Given the description of an element on the screen output the (x, y) to click on. 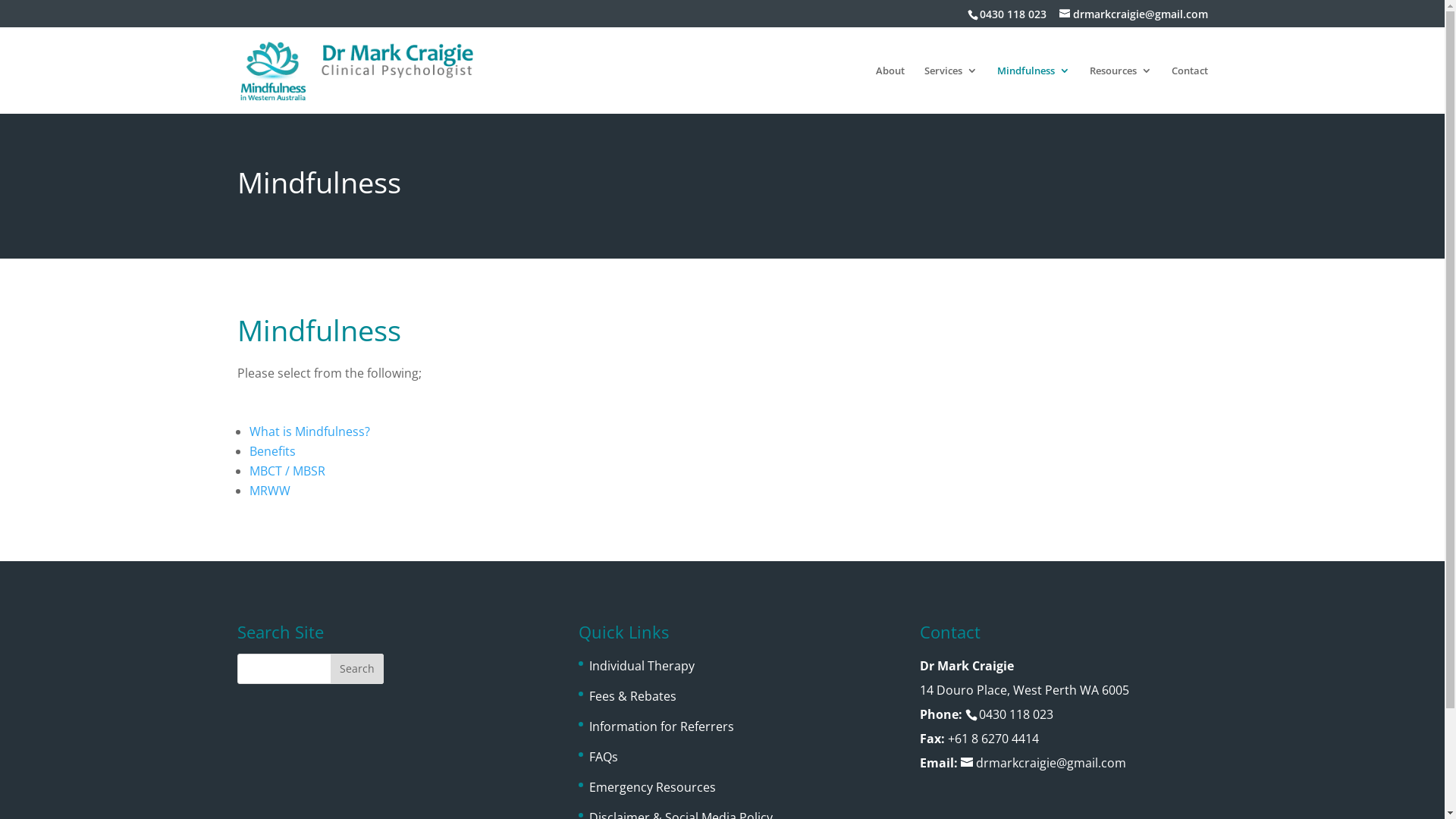
Benefits Element type: text (271, 450)
Individual Therapy Element type: text (641, 665)
MBCT / MBSR Element type: text (286, 470)
About Element type: text (889, 89)
drmarkcraigie@gmail.com Element type: text (1043, 762)
Search Element type: text (356, 668)
Mindfulness Element type: text (1032, 89)
FAQs Element type: text (603, 756)
Resources Element type: text (1119, 89)
Information for Referrers Element type: text (661, 726)
Fees & Rebates Element type: text (632, 695)
Services Element type: text (949, 89)
Contact Element type: text (1188, 89)
Emergency Resources Element type: text (652, 786)
What is Mindfulness? Element type: text (308, 431)
0430 118 023 Element type: text (1011, 13)
drmarkcraigie@gmail.com Element type: text (1132, 13)
MRWW Element type: text (268, 490)
